Given the description of an element on the screen output the (x, y) to click on. 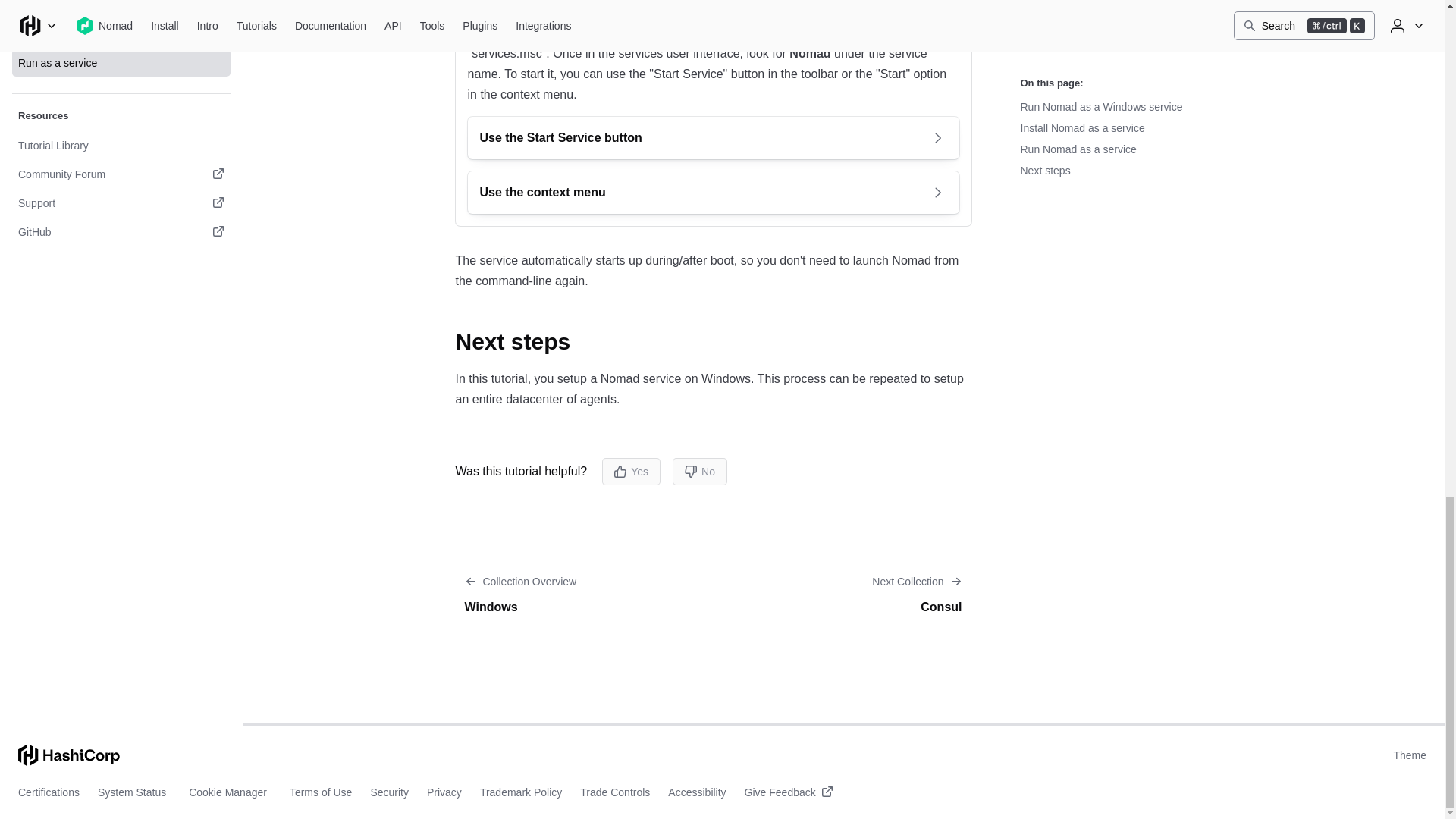
Next steps (524, 341)
